Given the description of an element on the screen output the (x, y) to click on. 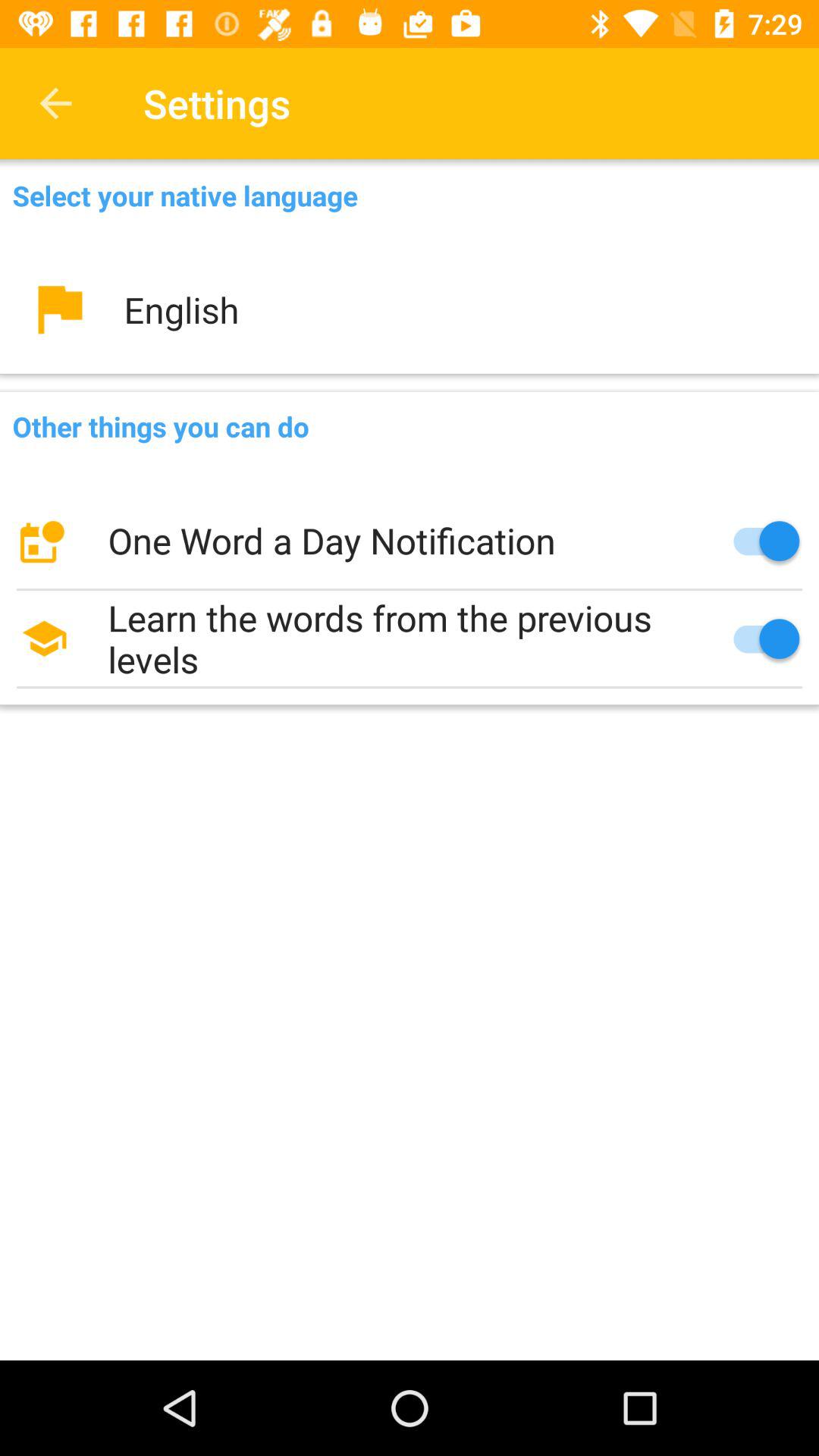
swipe to learn the words icon (409, 638)
